Given the description of an element on the screen output the (x, y) to click on. 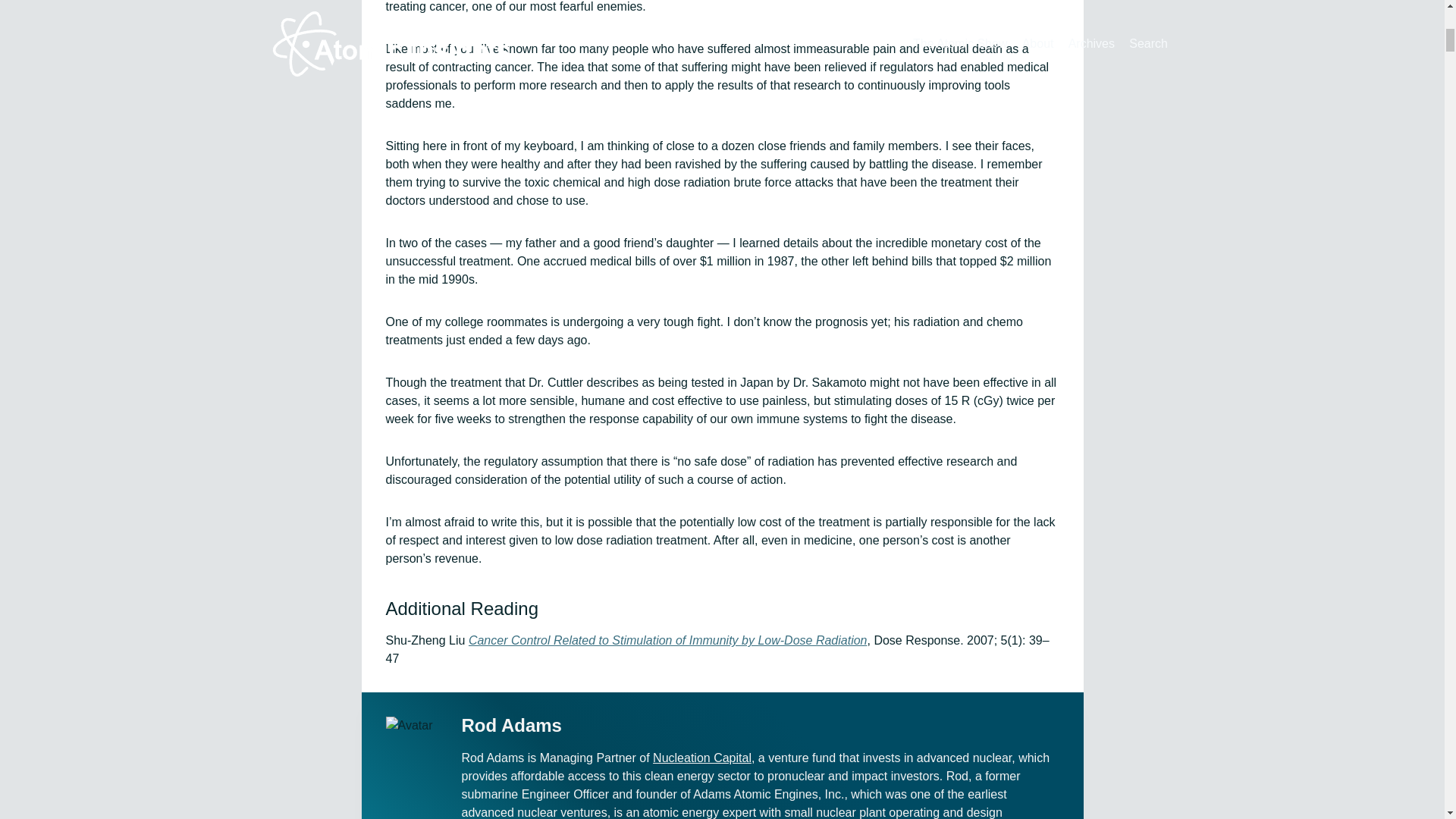
Nucleation Capital (701, 757)
